Given the description of an element on the screen output the (x, y) to click on. 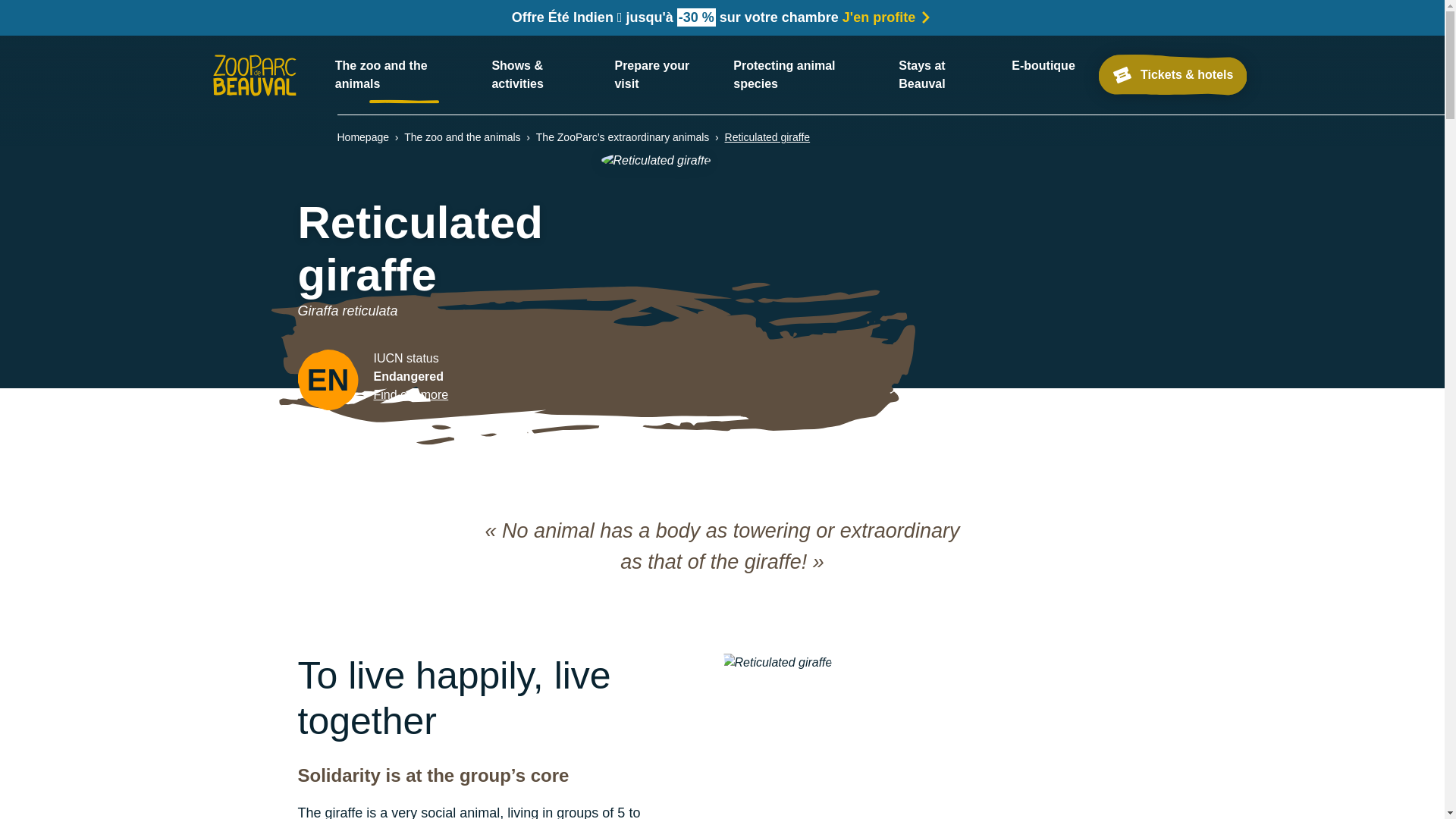
Protecting animal species (807, 74)
The zoo and the animals (404, 74)
Prepare your visit (664, 74)
The zoo and the animals (461, 137)
Homepage (253, 75)
Reticulated giraffe (776, 662)
J'en profite (888, 17)
Homepage (362, 137)
Reticulated giraffe (767, 137)
